Given the description of an element on the screen output the (x, y) to click on. 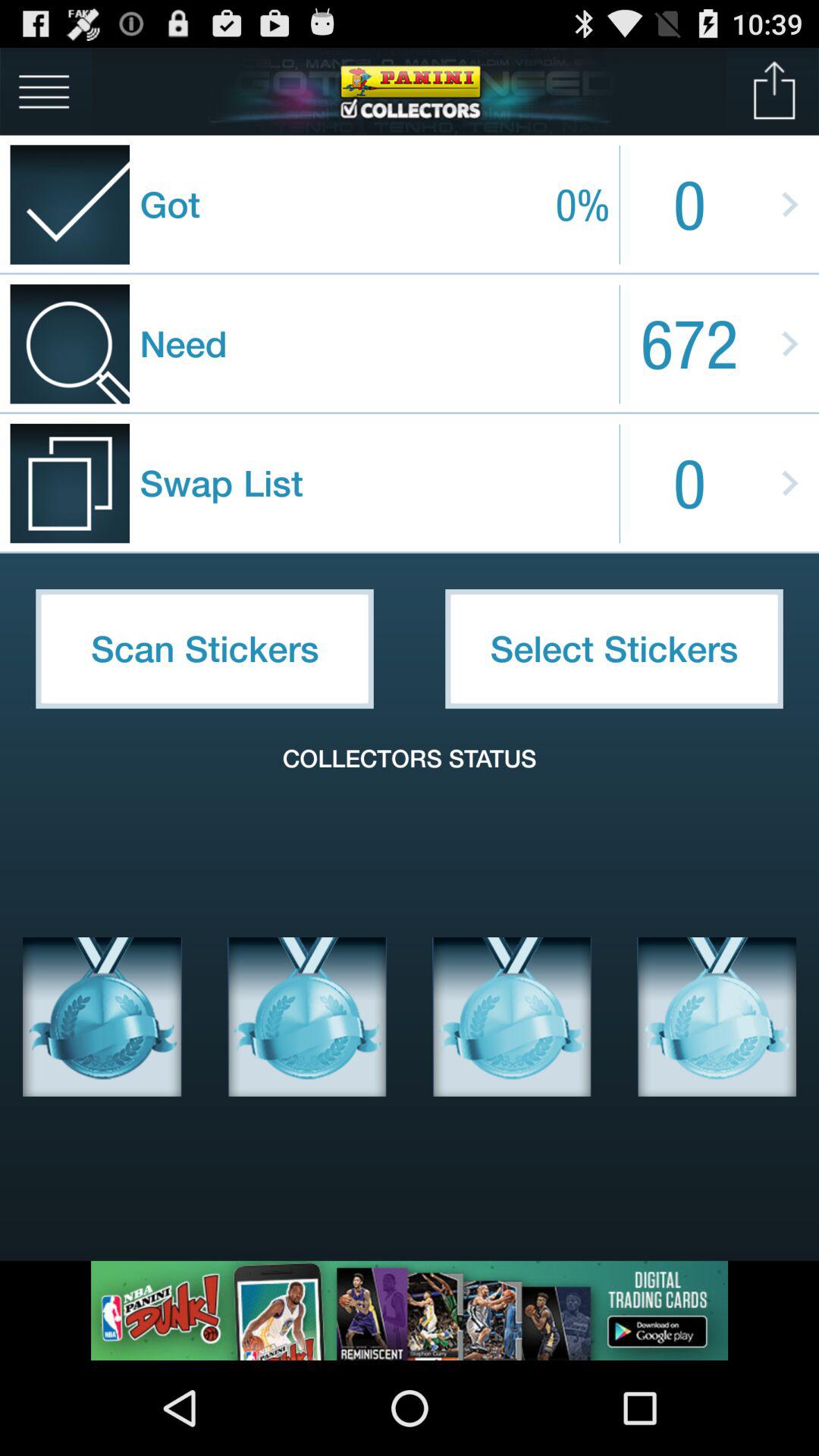
jump until the scan stickers (204, 648)
